Given the description of an element on the screen output the (x, y) to click on. 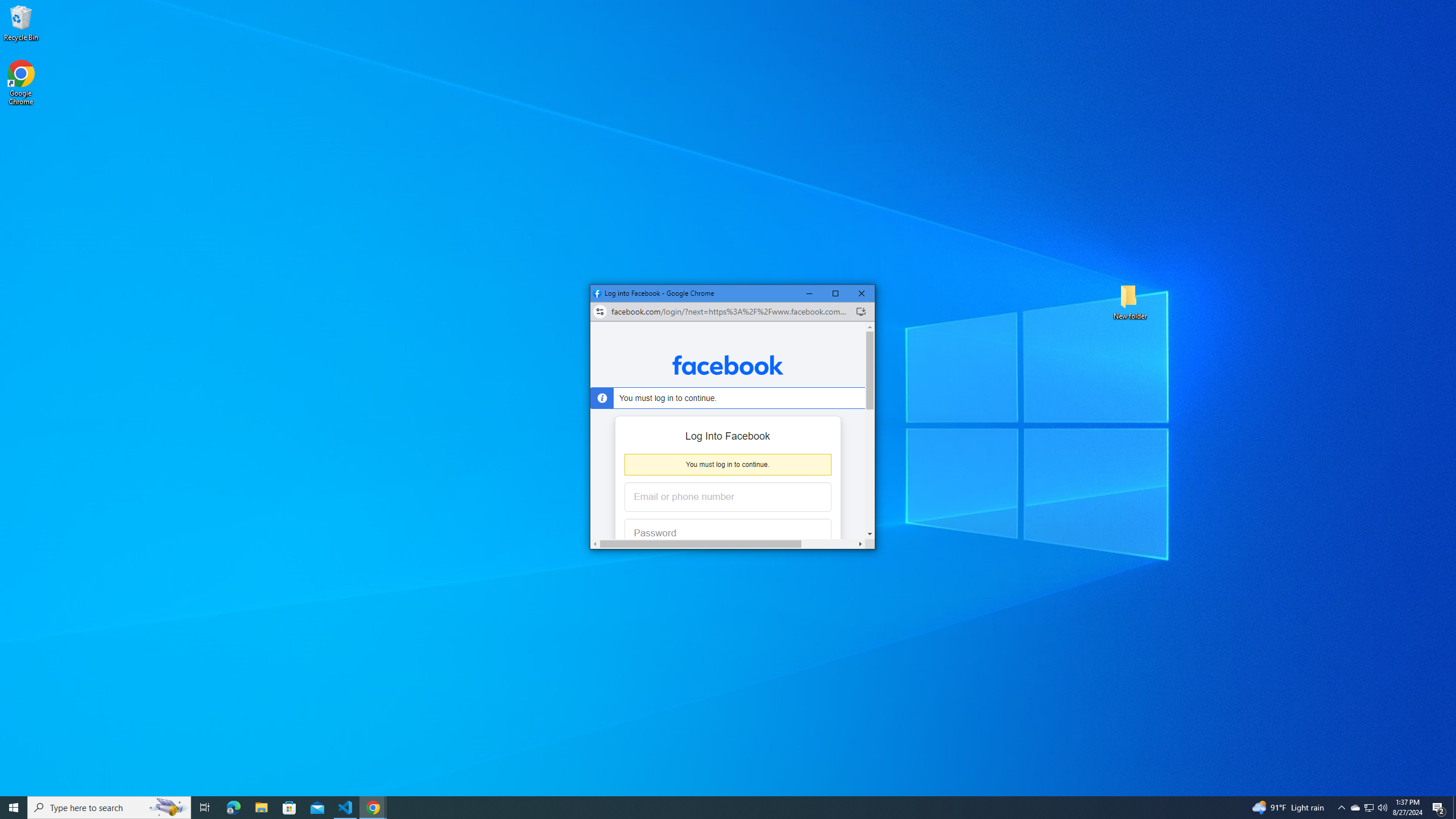
Microsoft Edge (233, 807)
Action Center, 2 new notifications (1368, 807)
Search highlights icon opens search home window (1439, 807)
Show desktop (167, 807)
Maximize (1355, 807)
File Explorer (1454, 807)
Q2790: 100% (835, 293)
Visual Studio Code - 1 running window (261, 807)
Facebook (1382, 807)
Type here to search (345, 807)
Email or phone number (727, 365)
